Given the description of an element on the screen output the (x, y) to click on. 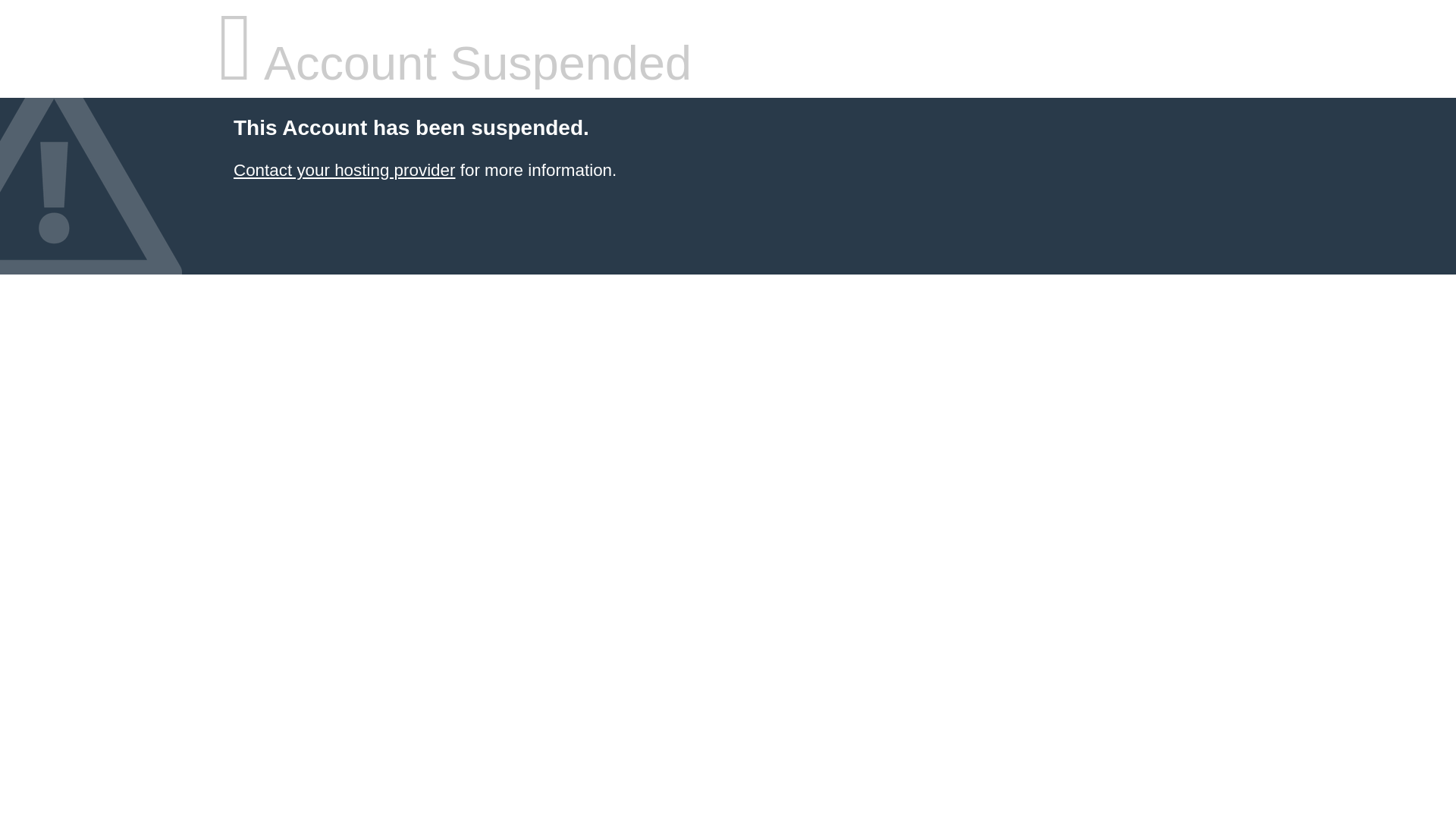
Contact your hosting provider (343, 169)
